Given the description of an element on the screen output the (x, y) to click on. 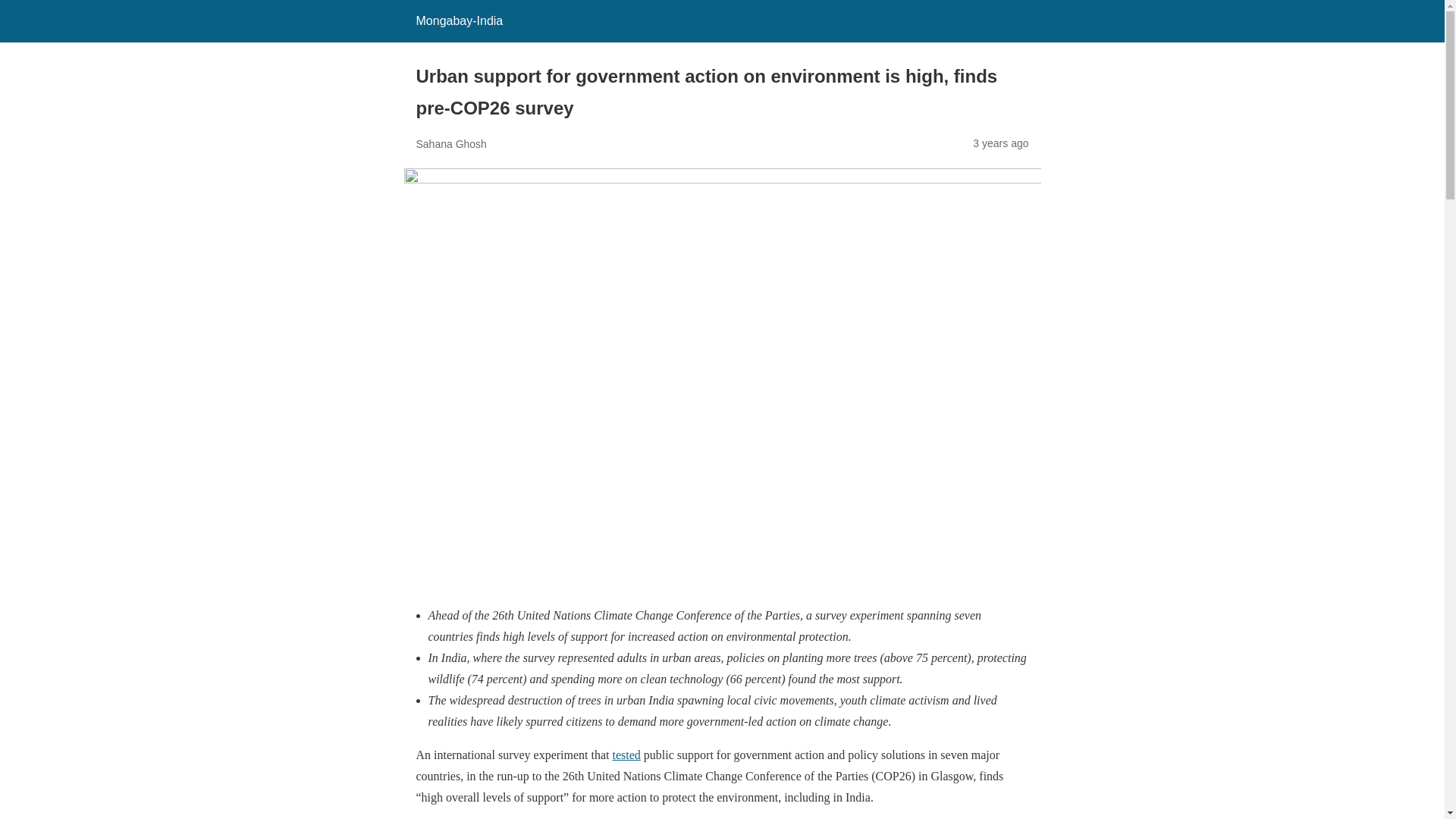
Mongabay-India (458, 20)
tested (626, 754)
